Given the description of an element on the screen output the (x, y) to click on. 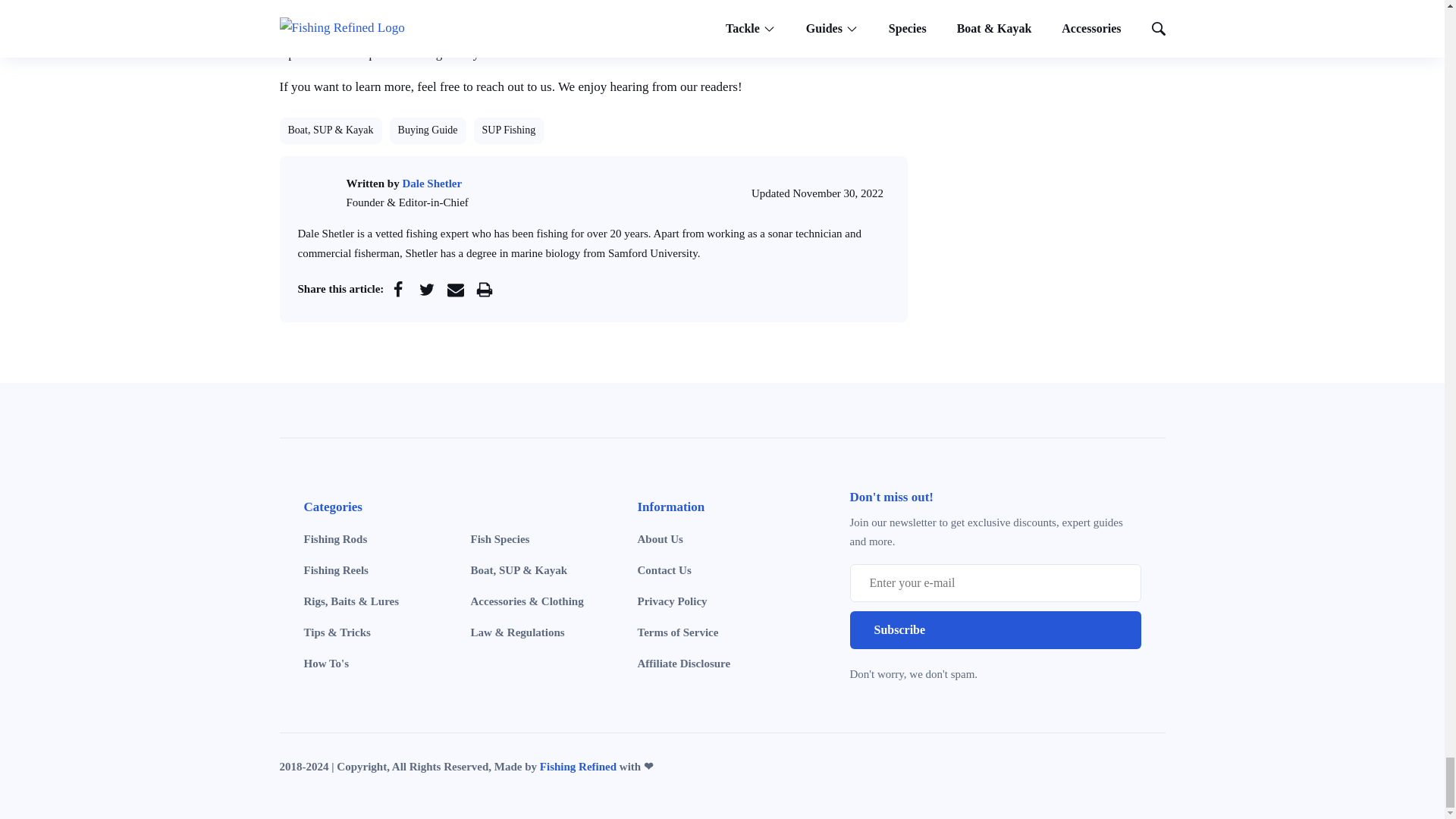
Subscribe (994, 629)
